Given the description of an element on the screen output the (x, y) to click on. 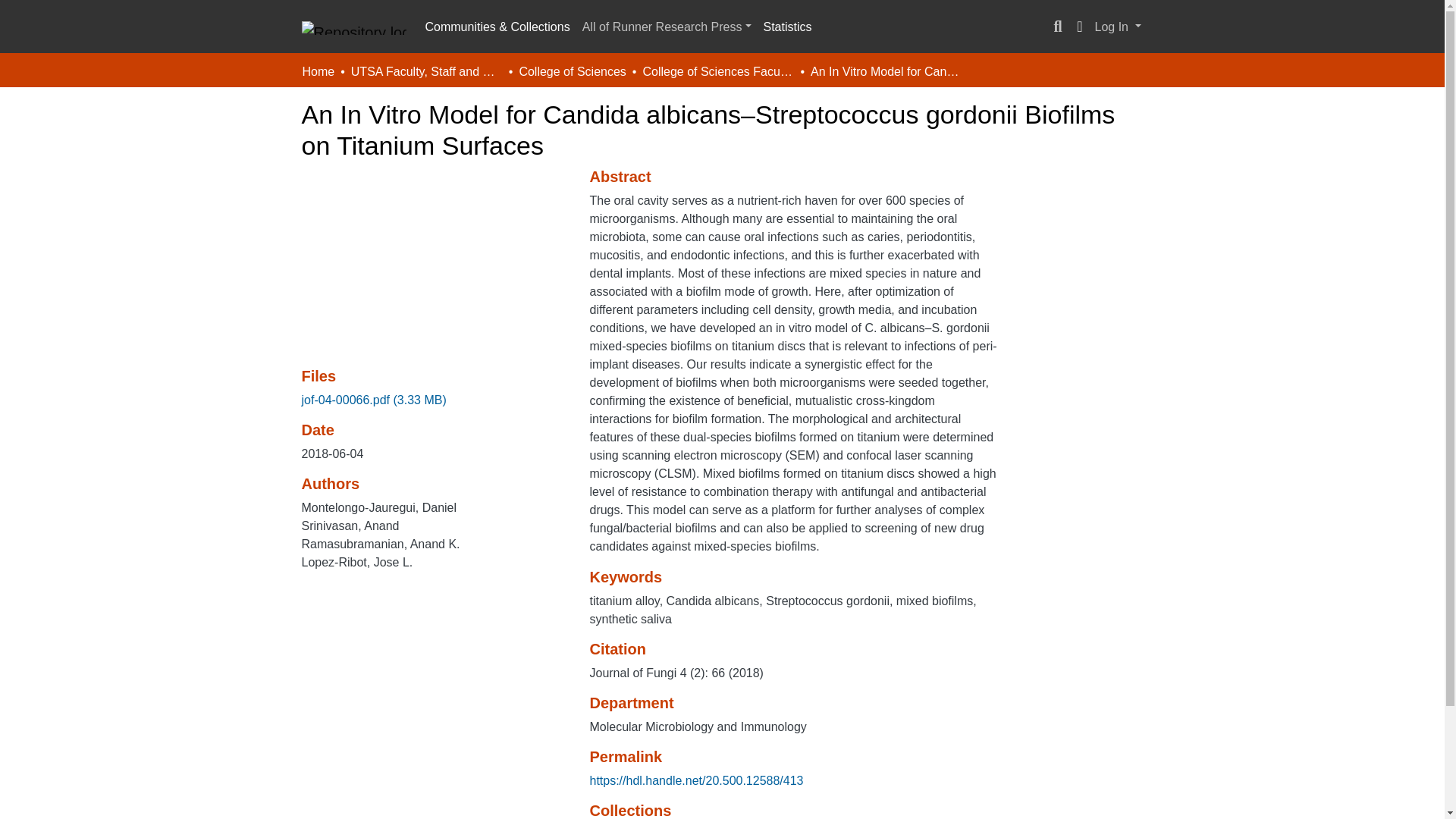
Log In (1117, 26)
Statistics (786, 27)
UTSA Faculty, Staff and Postdoctoral Researcher Work (426, 72)
Search (1057, 27)
All of Runner Research Press (666, 27)
College of Sciences (572, 72)
Statistics (786, 27)
College of Sciences Faculty Research (717, 72)
Home (317, 72)
Language switch (1079, 27)
